Given the description of an element on the screen output the (x, y) to click on. 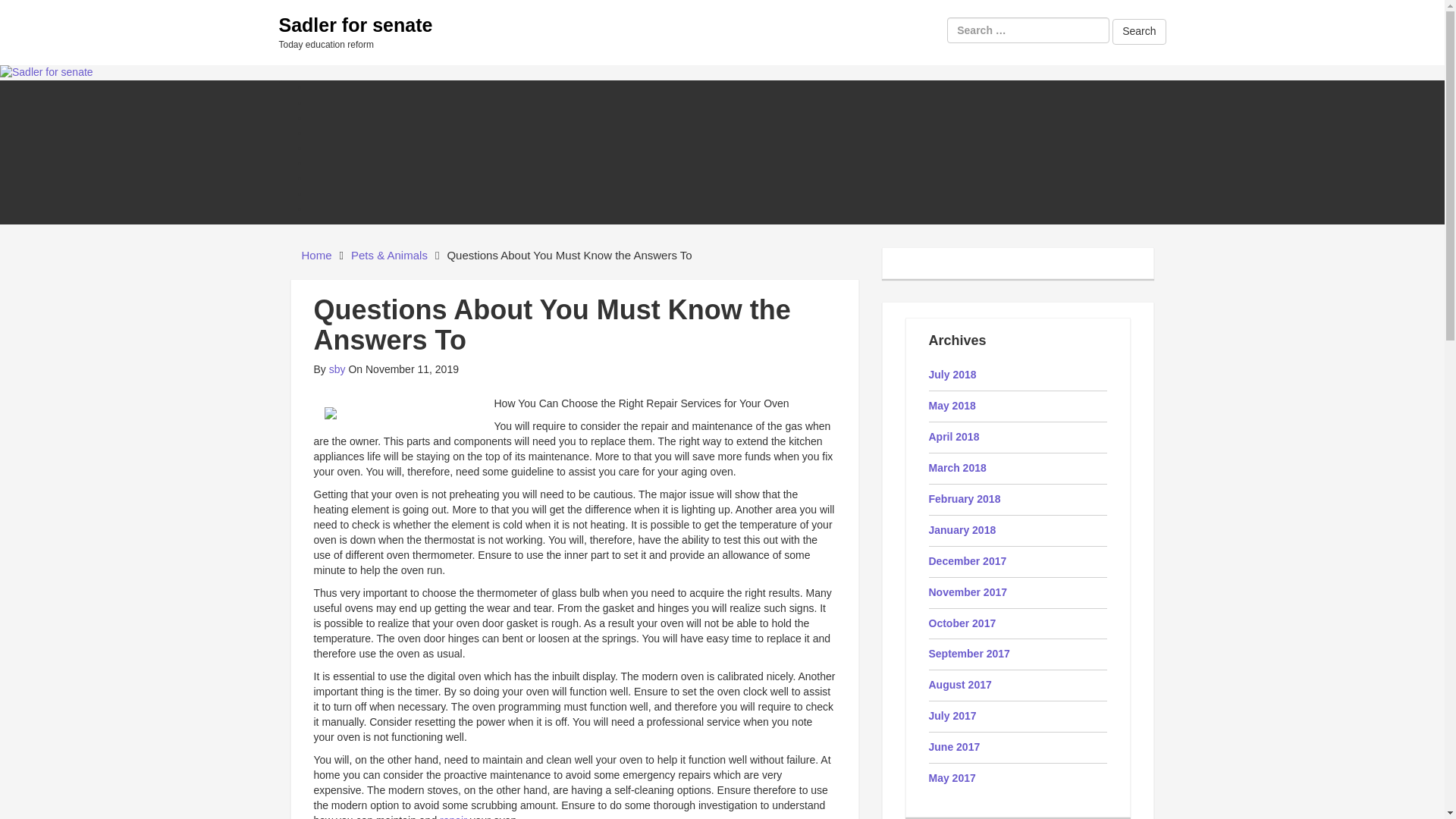
July 2018 (951, 374)
Posts by sby (337, 369)
May 2018 (951, 405)
Monday, November 11, 2019, 5:47 am (402, 369)
August 2017 (959, 684)
February 2018 (964, 499)
January 2018 (961, 530)
September 2017 (968, 653)
October 2017 (961, 623)
Home (316, 254)
